Given the description of an element on the screen output the (x, y) to click on. 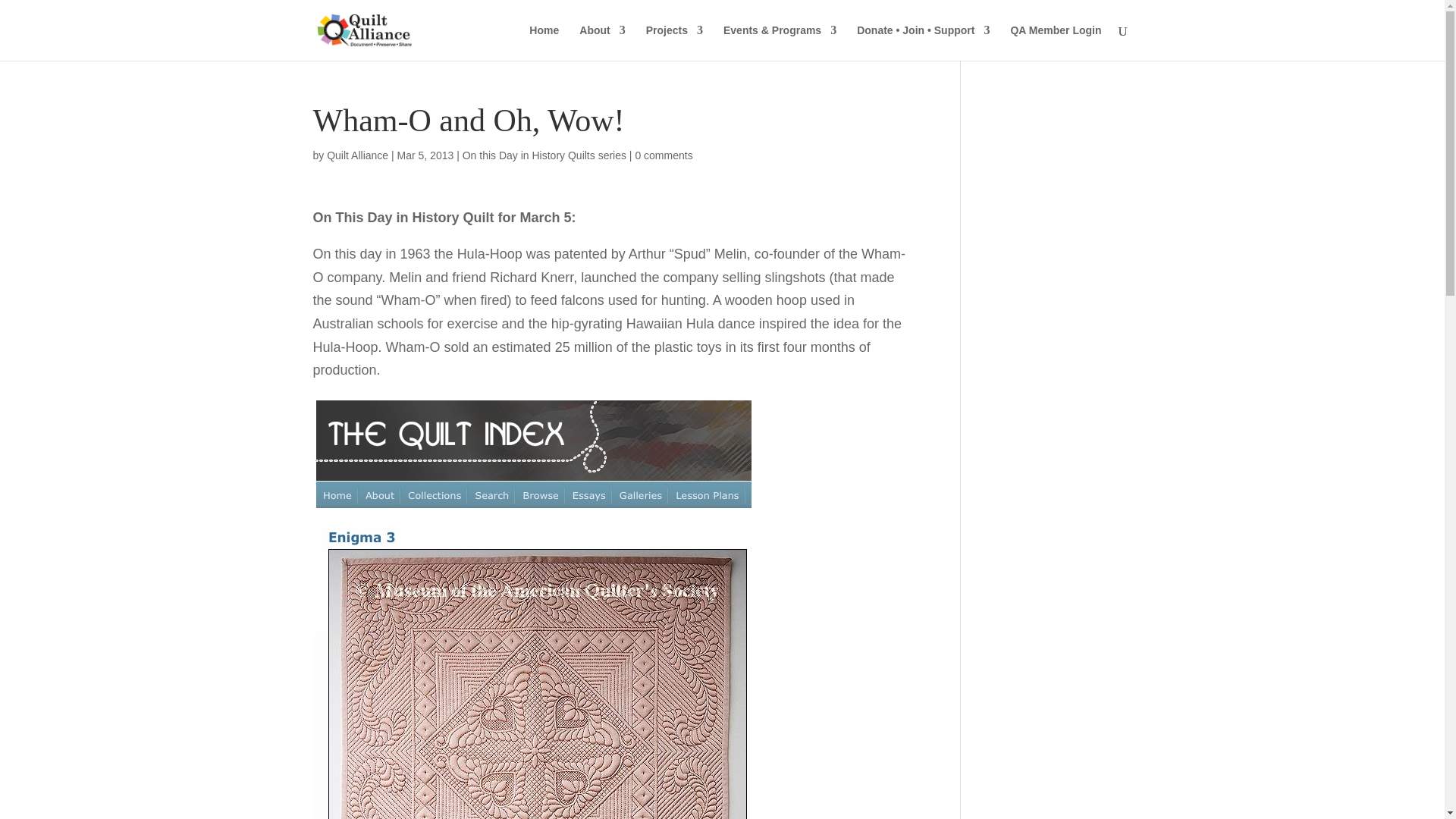
Projects (674, 42)
About (601, 42)
QA Member Login (1055, 42)
Posts by Quilt Alliance (357, 155)
